Given the description of an element on the screen output the (x, y) to click on. 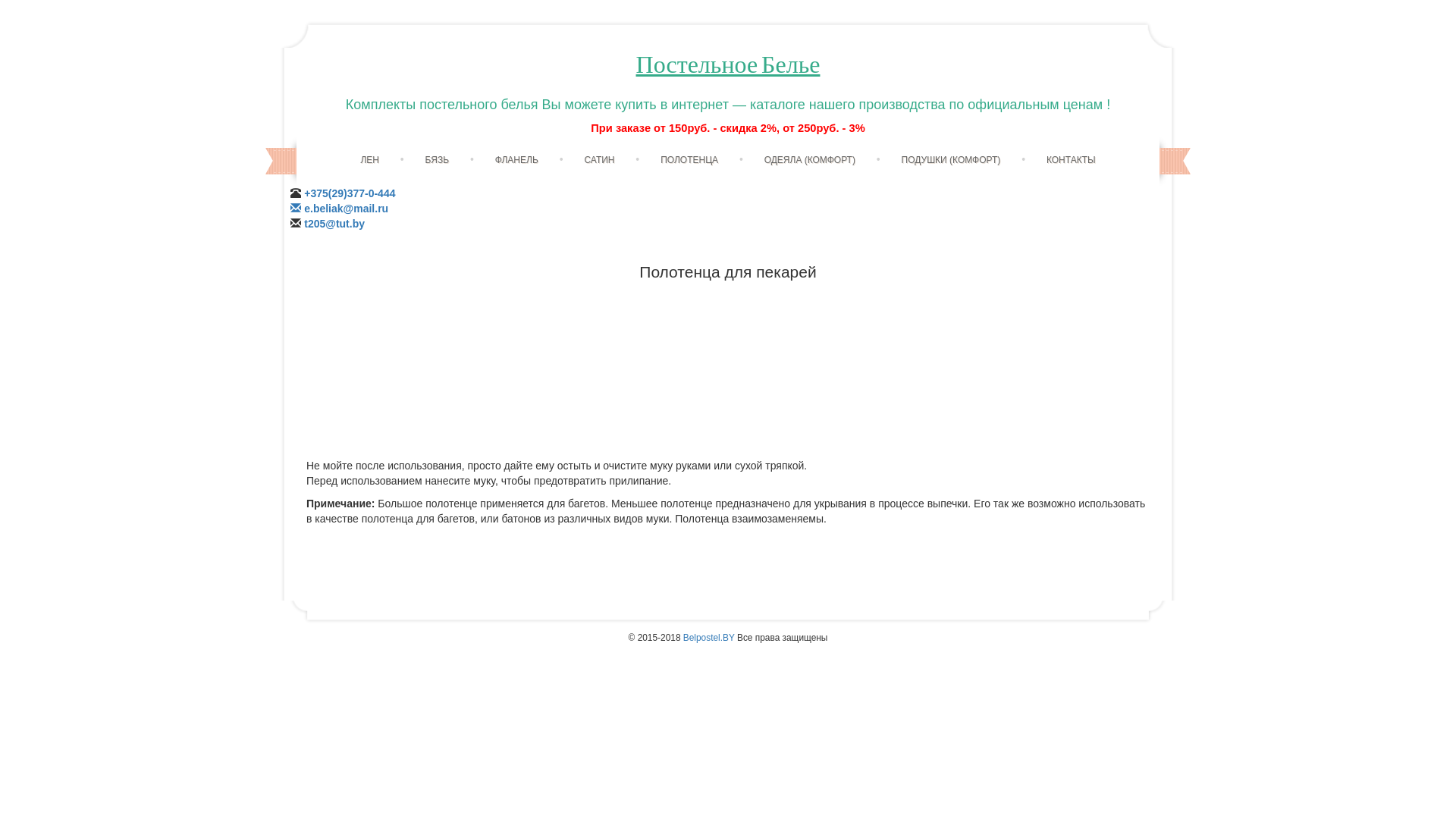
Skip to content Element type: text (763, 150)
+375(29)377-0-444 Element type: text (342, 200)
t205@tut.by Element type: text (334, 223)
e.beliak@mail.ru Element type: text (346, 208)
